Given the description of an element on the screen output the (x, y) to click on. 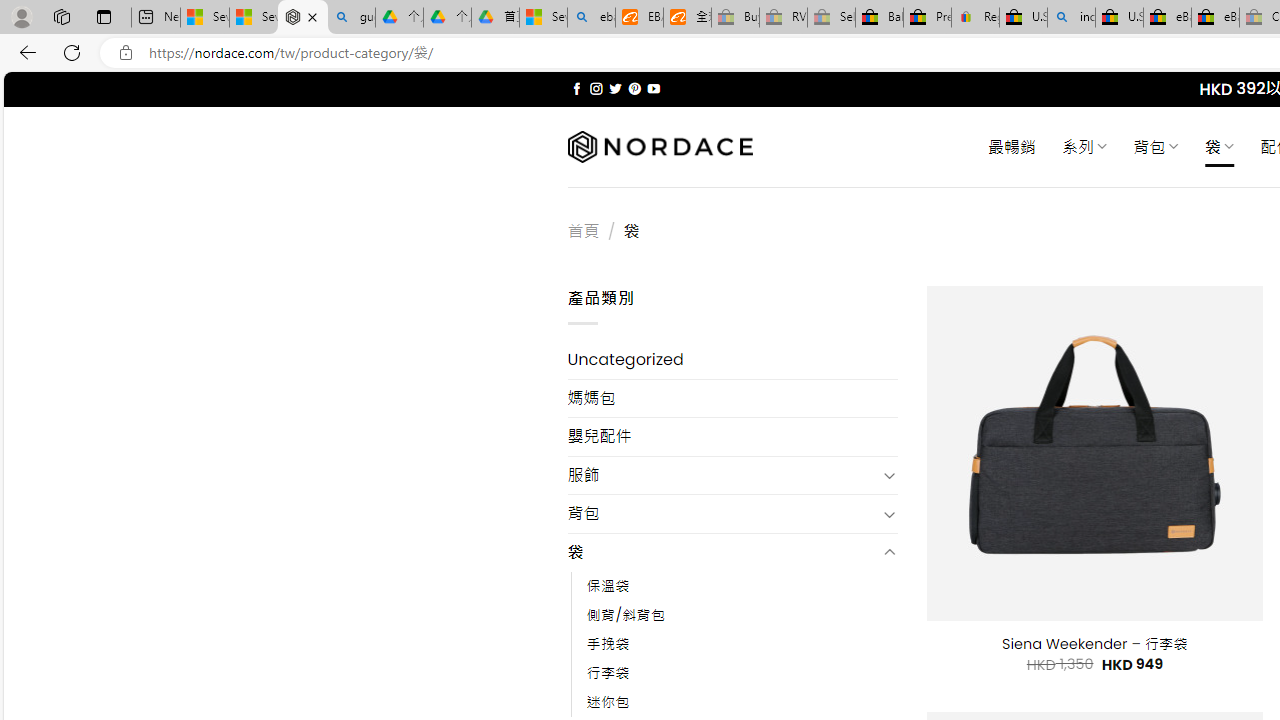
eBay Inc. Reports Third Quarter 2023 Results (1215, 17)
